Given the description of an element on the screen output the (x, y) to click on. 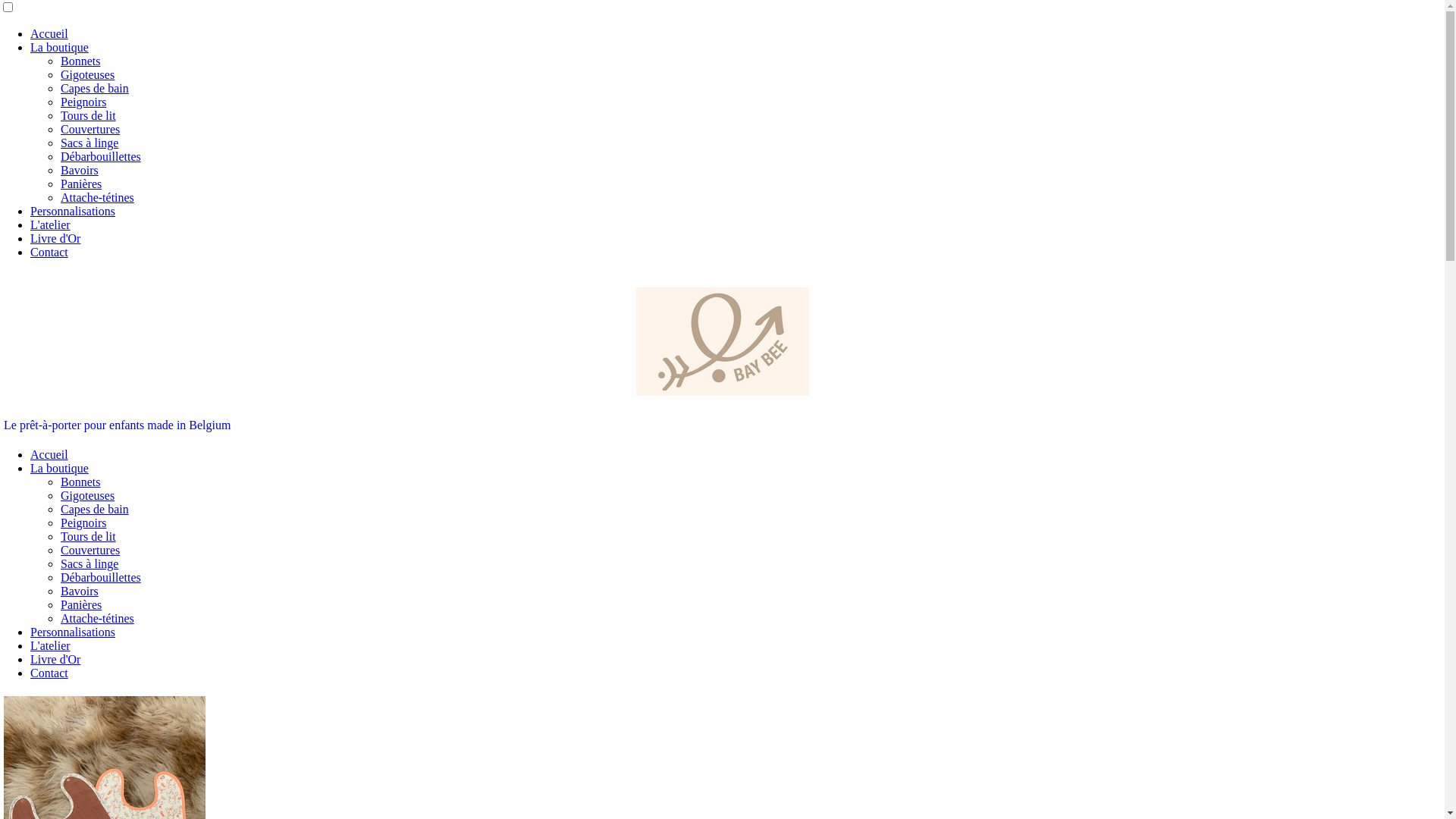
La boutique Element type: text (59, 46)
Livre d'Or Element type: text (55, 658)
Bonnets Element type: text (80, 60)
Capes de bain Element type: text (94, 87)
La boutique Element type: text (59, 467)
Couvertures Element type: text (89, 128)
Gigoteuses Element type: text (87, 495)
Bavoirs Element type: text (79, 590)
Couvertures Element type: text (89, 549)
Contact Element type: text (49, 251)
Tours de lit Element type: text (88, 536)
Peignoirs Element type: text (83, 522)
Livre d'Or Element type: text (55, 238)
Gigoteuses Element type: text (87, 74)
Peignoirs Element type: text (83, 101)
Accueil Element type: text (49, 33)
Capes de bain Element type: text (94, 508)
Personnalisations Element type: text (72, 210)
Contact Element type: text (49, 672)
L'atelier Element type: text (50, 224)
Personnalisations Element type: text (72, 631)
Bonnets Element type: text (80, 481)
Tours de lit Element type: text (88, 115)
Bavoirs Element type: text (79, 169)
L'atelier Element type: text (50, 645)
Accueil Element type: text (49, 454)
